Given the description of an element on the screen output the (x, y) to click on. 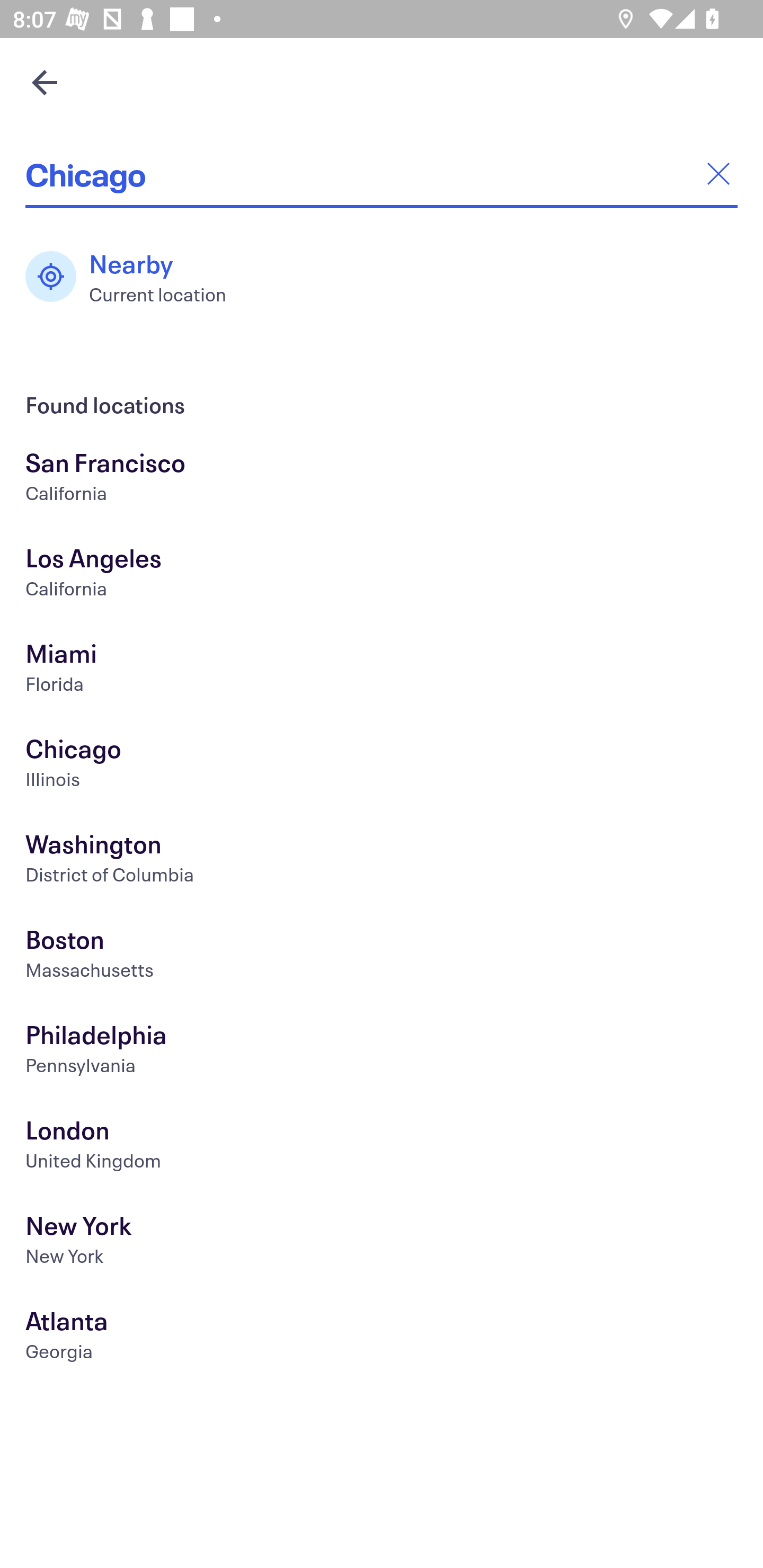
Navigate up (44, 82)
Chicago (381, 173)
Nearby Current location (135, 276)
San Francisco California (381, 479)
Los Angeles California (381, 574)
Miami Florida (381, 670)
Chicago Illinois (381, 765)
Washington District of Columbia (381, 861)
Boston Massachusetts (381, 955)
Philadelphia Pennsylvania (381, 1051)
London United Kingdom (381, 1146)
New York (381, 1242)
Atlanta Georgia (381, 1338)
